Given the description of an element on the screen output the (x, y) to click on. 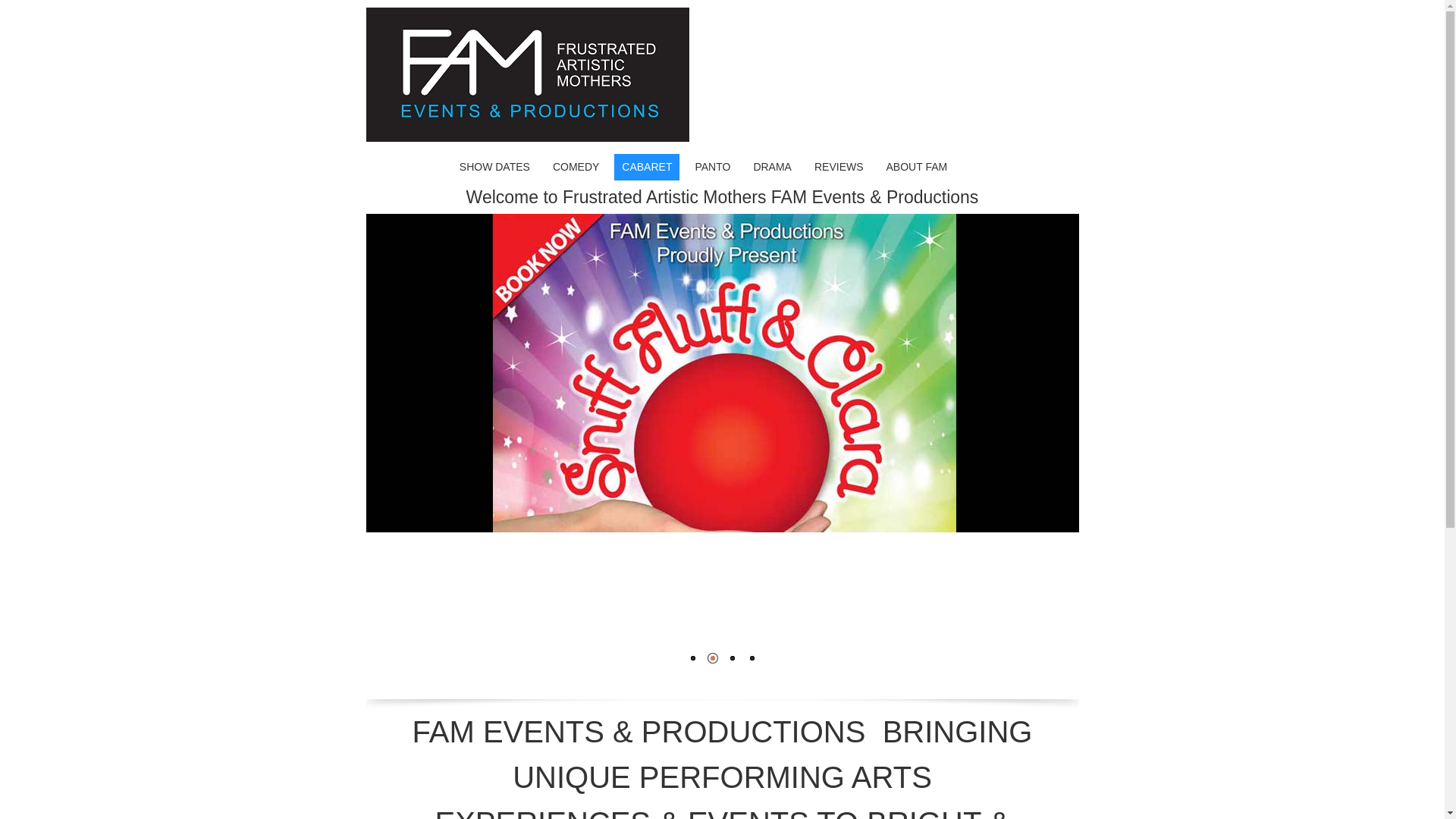
COMEDY Element type: text (575, 166)
SHOW DATES Element type: text (494, 166)
ABOUT FAM Element type: text (916, 166)
2 Element type: text (711, 657)
DRAMA Element type: text (772, 166)
4 Element type: text (751, 657)
CABARET Element type: text (646, 166)
3 Element type: text (731, 657)
PANTO Element type: text (712, 166)
1 Element type: text (692, 657)
REVIEWS Element type: text (838, 166)
